Given the description of an element on the screen output the (x, y) to click on. 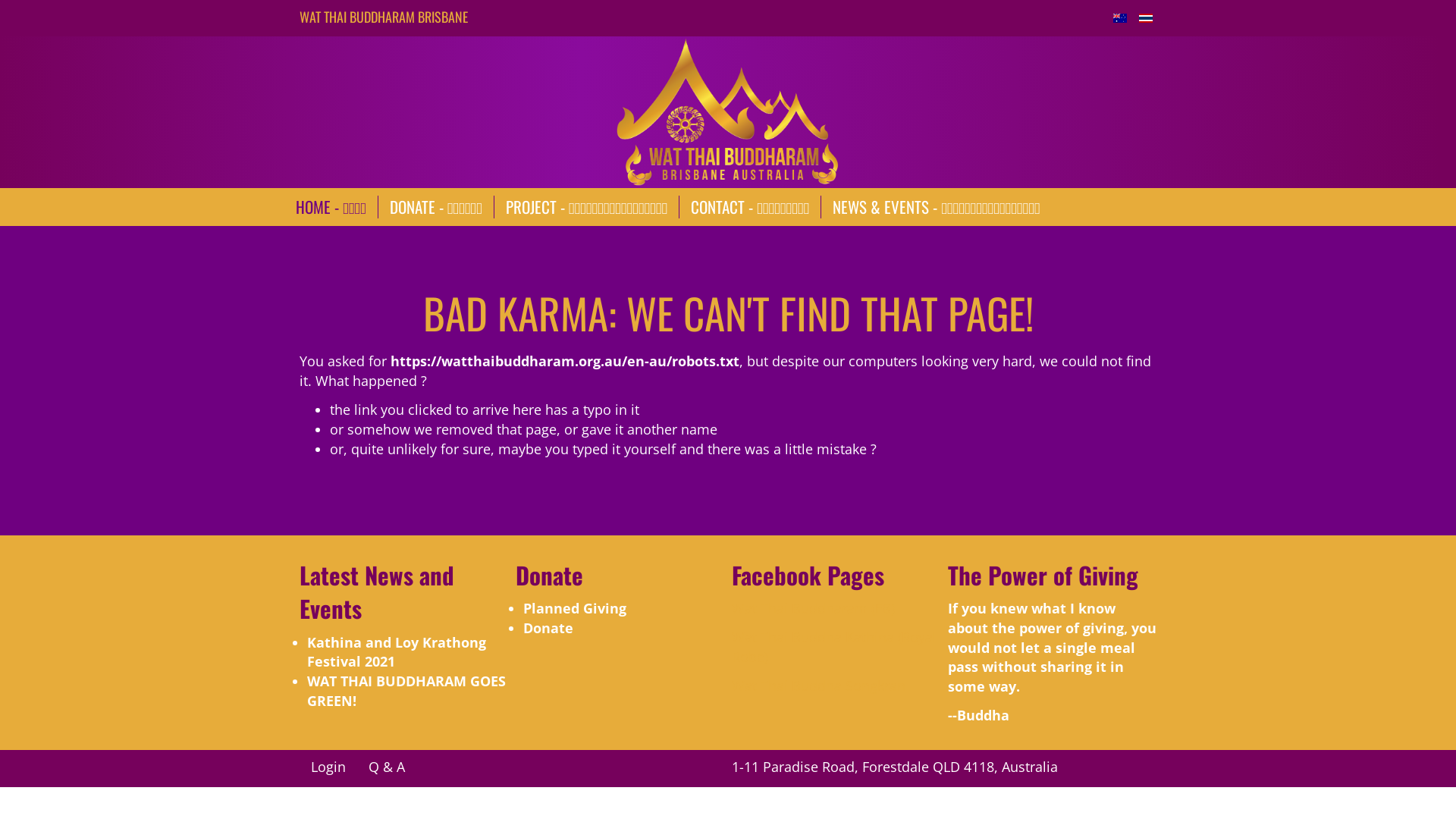
English (Australia) Element type: hover (1119, 17)
Login Element type: text (328, 766)
Donate Element type: text (548, 627)
Planned Giving Element type: text (574, 608)
Wat Thai Buddha Songkran Element type: text (818, 685)
Wat Thai Buddha Kathina (Royal Robe) Element type: text (833, 646)
WAT THAI BUDDHARAM GOES GREEN! Element type: text (406, 690)
Q & A Element type: text (386, 766)
Kathina and Loy Krathong Festival 2021 Element type: text (396, 652)
Wat Thai Buddharam (FB) Element type: text (812, 608)
WAT THAI BUDDHARAM BRISBANE Element type: text (383, 16)
